Given the description of an element on the screen output the (x, y) to click on. 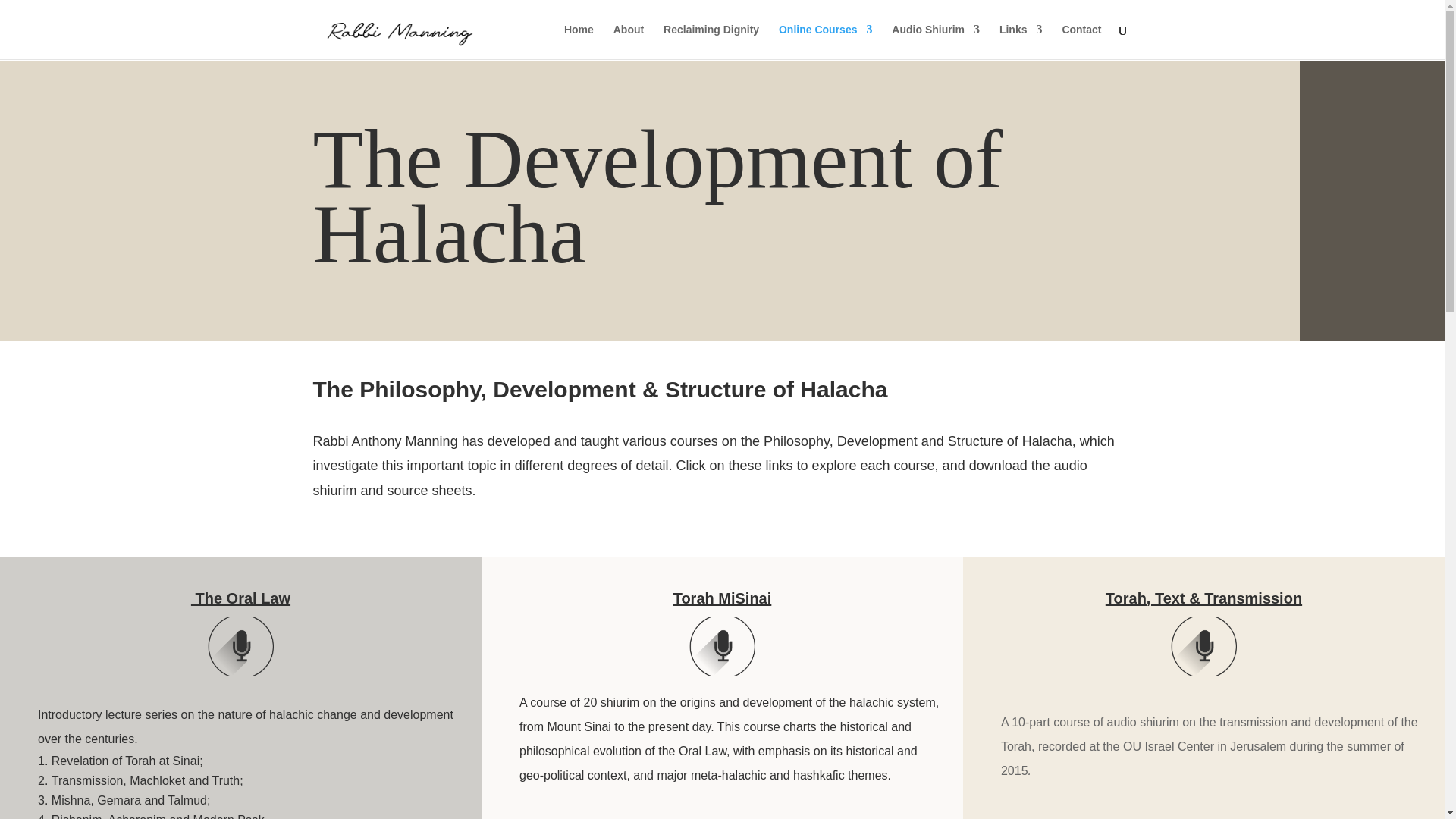
Online Courses (825, 41)
Links (1020, 41)
microphone-2104091 (1203, 646)
Audio Shiurim (935, 41)
Contact (1080, 41)
Reclaiming Dignity (710, 41)
microphone-2104091 (240, 646)
microphone-2104091 (721, 646)
